Given the description of an element on the screen output the (x, y) to click on. 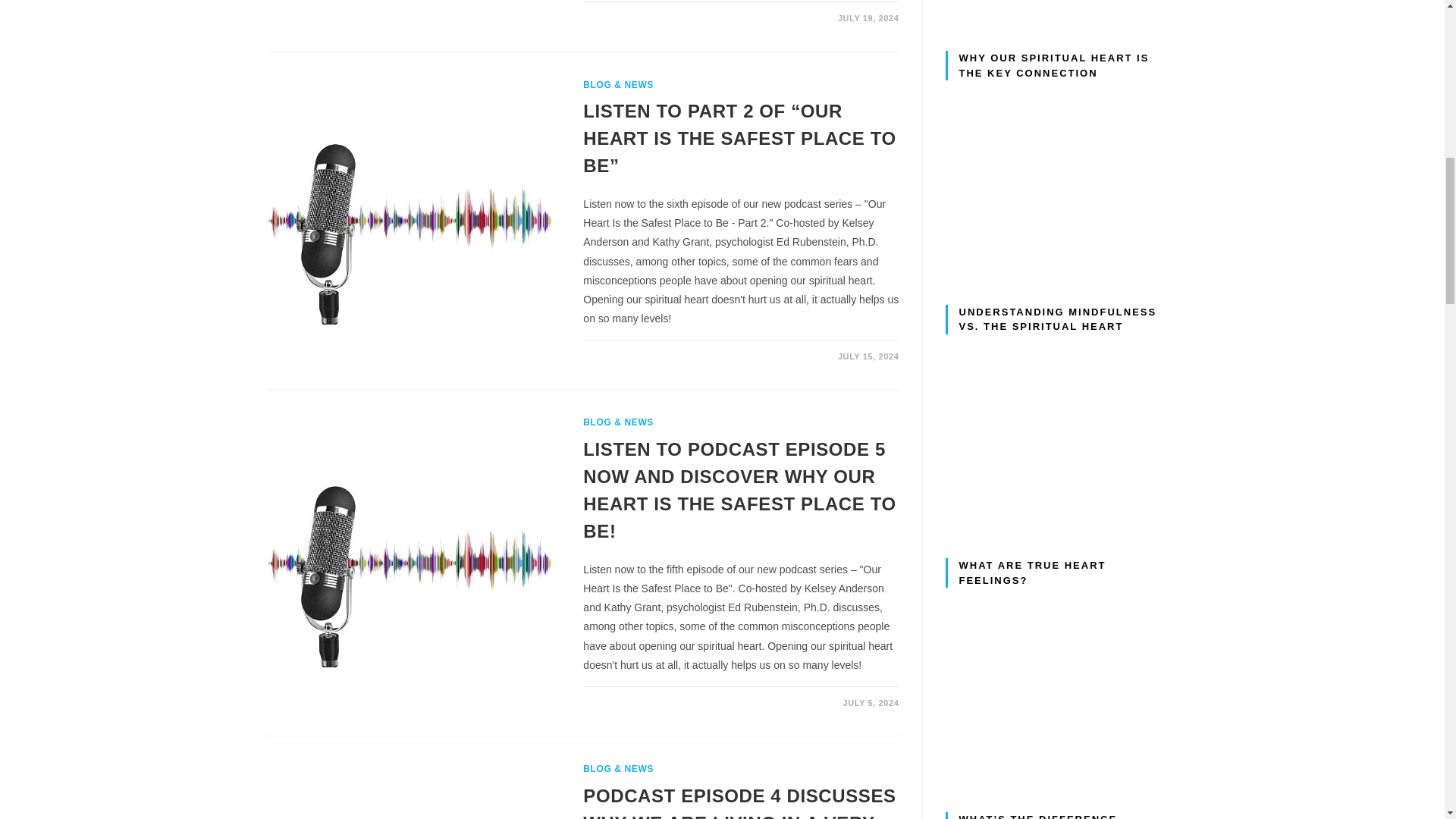
How Open Heart can Elevate Mindfulness (1060, 414)
Why Our Spiritual Heart is the Key (1060, 160)
True Heart Feelings (1060, 667)
